Given the description of an element on the screen output the (x, y) to click on. 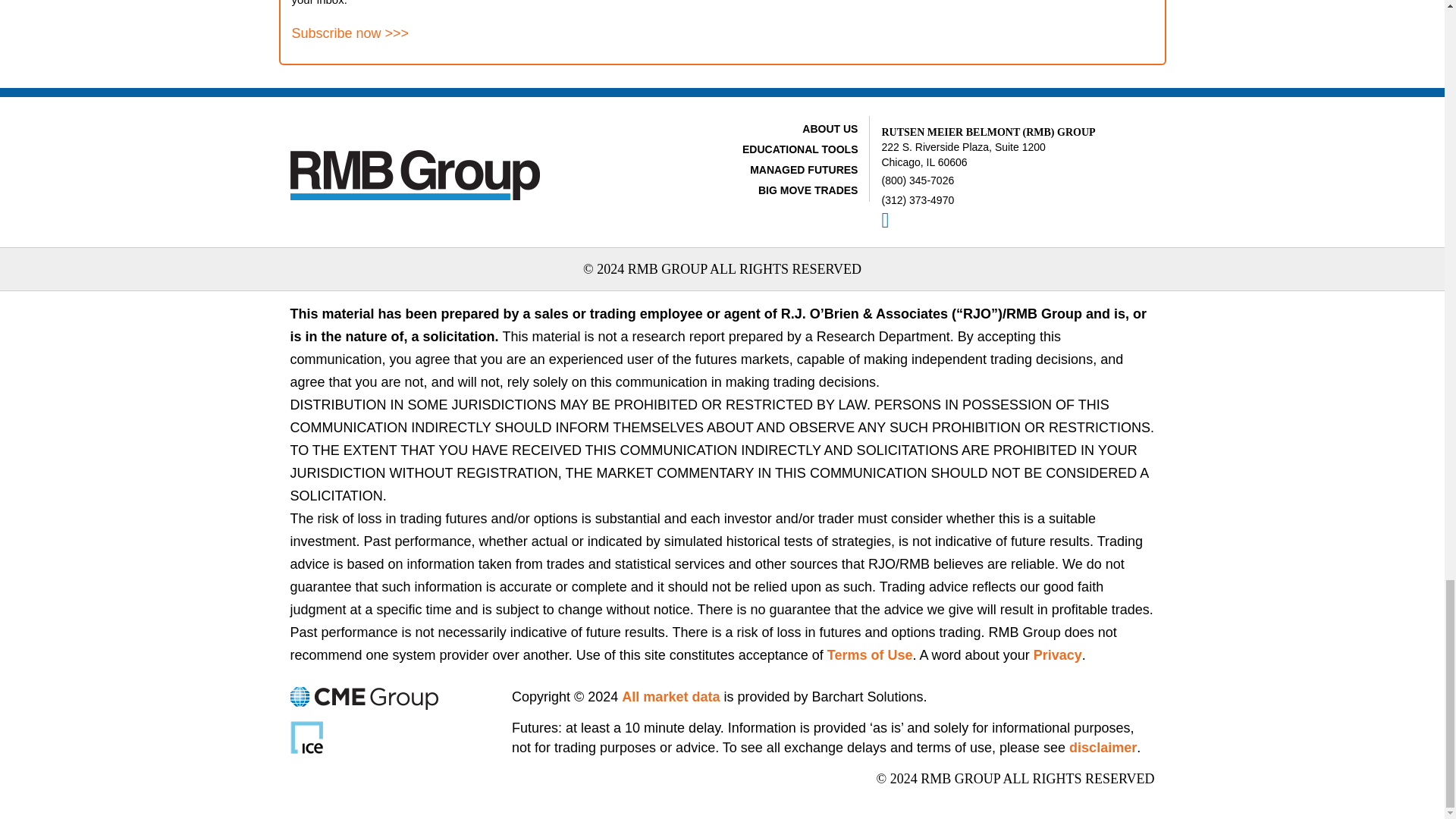
Form 0 (943, 22)
Terms of Uses (869, 654)
ABOUT US (829, 128)
